Given the description of an element on the screen output the (x, y) to click on. 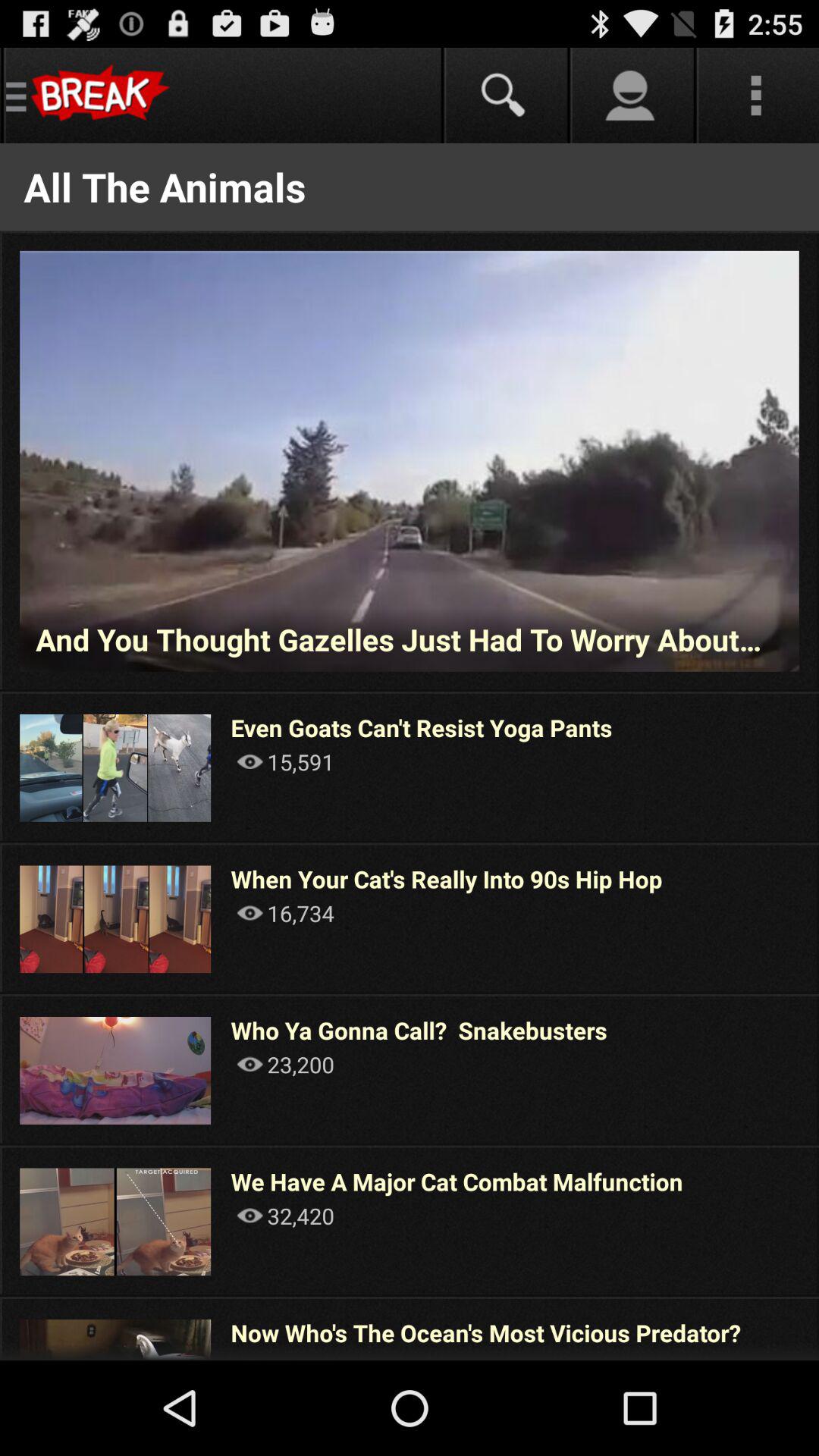
scroll until even goats can item (421, 727)
